Given the description of an element on the screen output the (x, y) to click on. 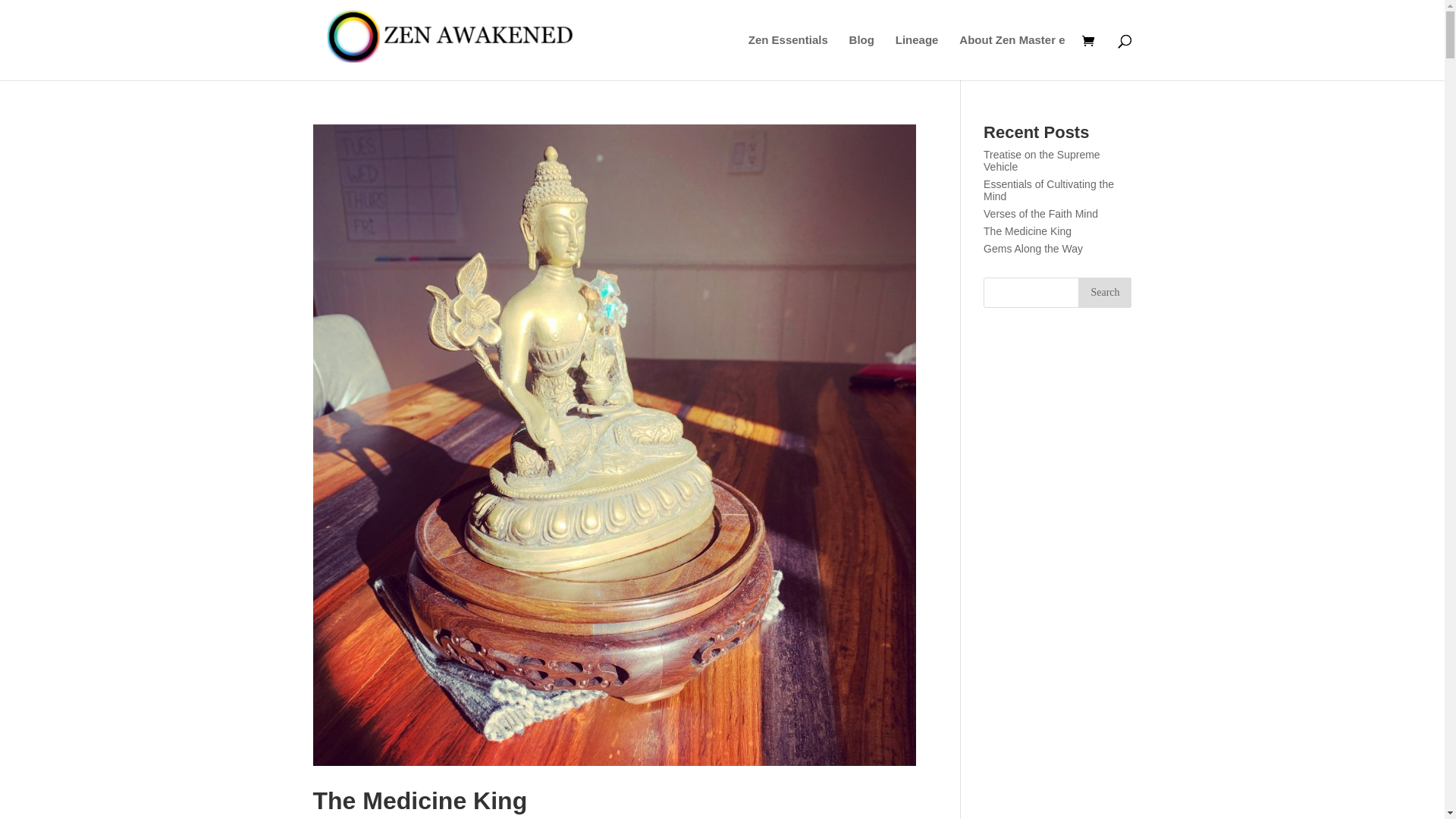
The Medicine King Element type: text (419, 800)
About Zen Master e Element type: text (1011, 57)
Lineage Element type: text (916, 57)
Treatise on the Supreme Vehicle Element type: text (1041, 160)
Verses of the Faith Mind Element type: text (1040, 213)
Gems Along the Way Element type: text (1032, 248)
Search Element type: text (1104, 292)
The Medicine King Element type: text (1027, 231)
Essentials of Cultivating the Mind Element type: text (1048, 190)
Blog Element type: text (861, 57)
Zen Essentials Element type: text (788, 57)
